Given the description of an element on the screen output the (x, y) to click on. 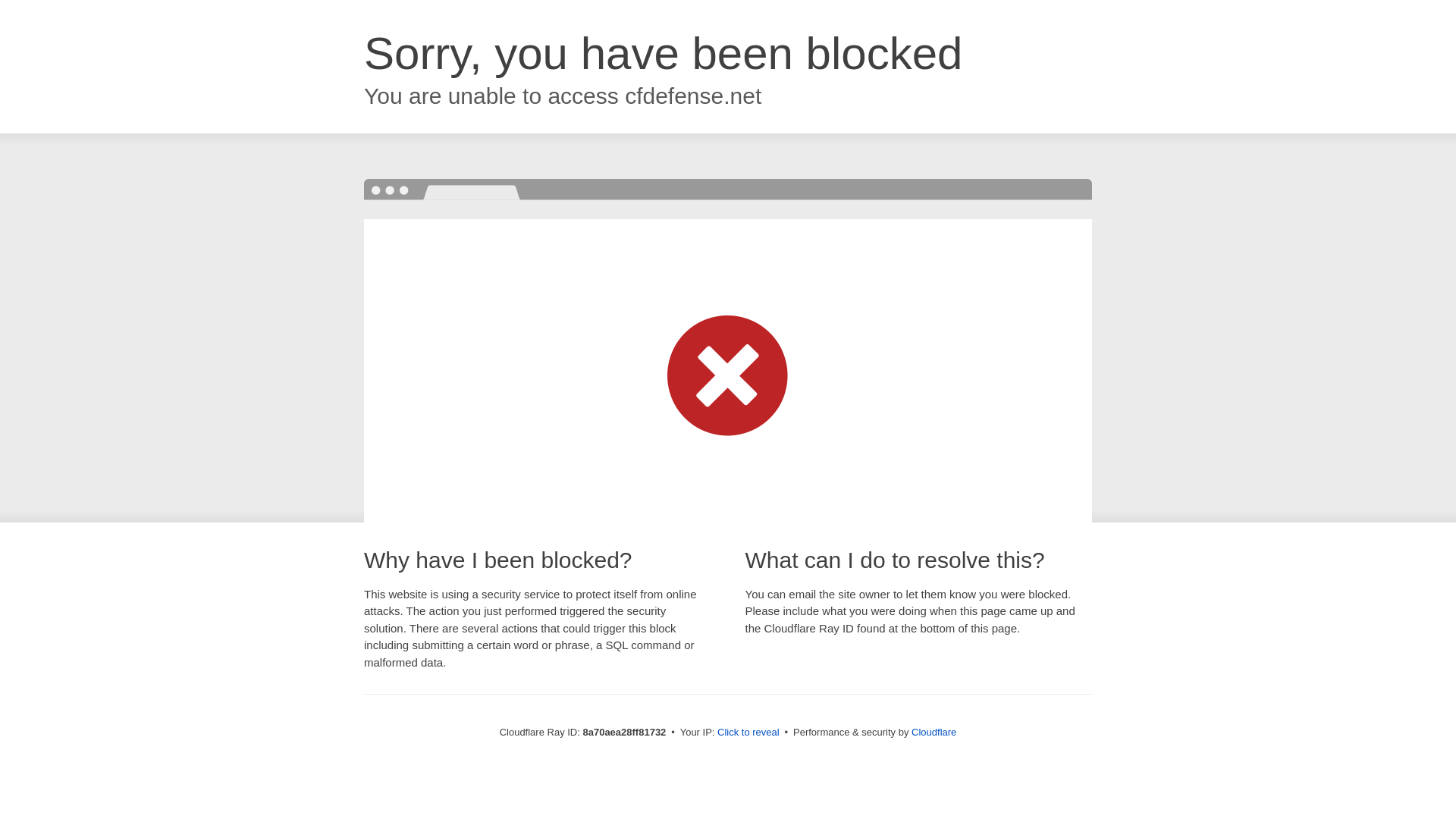
Cloudflare (933, 731)
Click to reveal (747, 732)
